Given the description of an element on the screen output the (x, y) to click on. 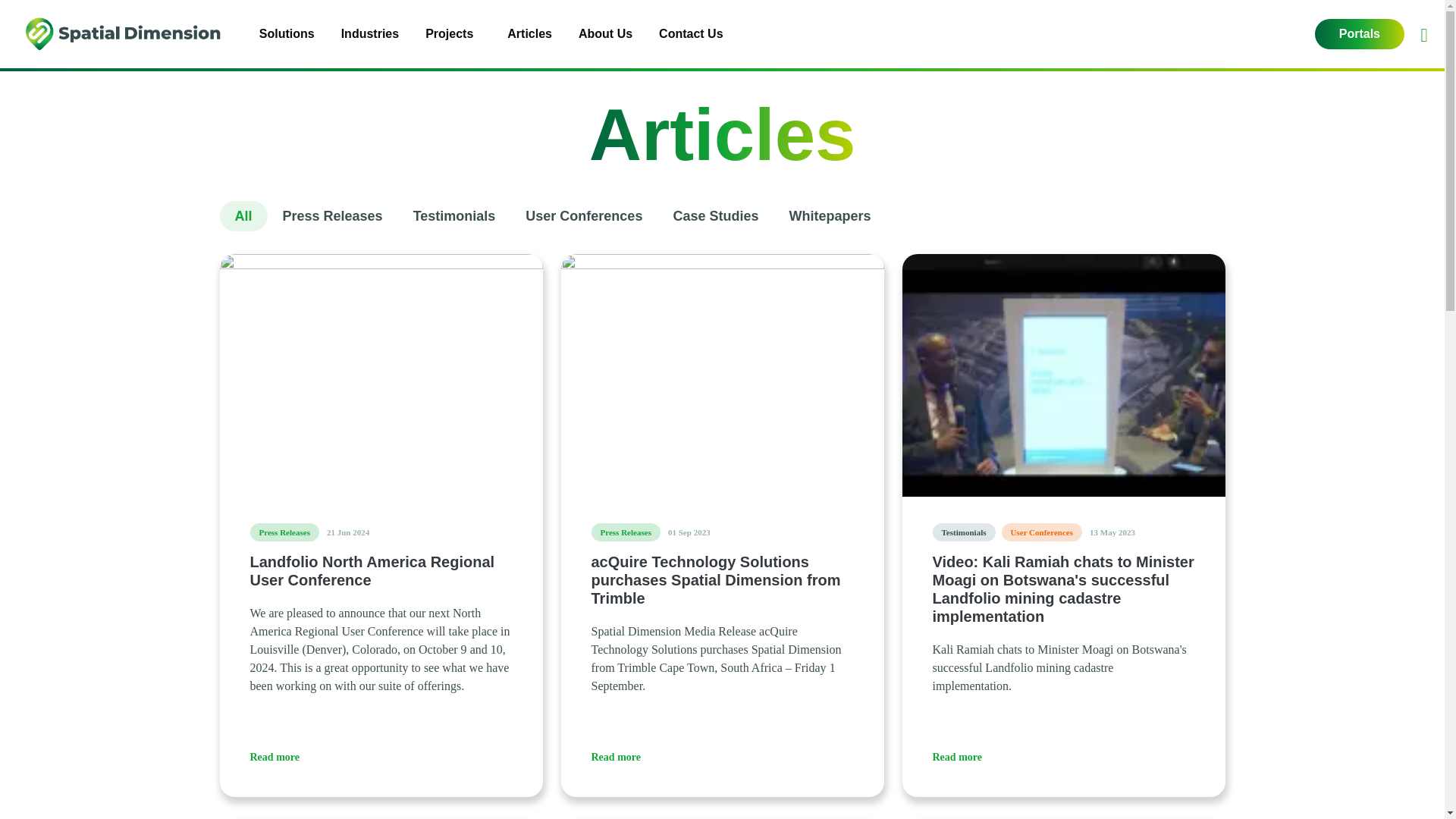
Industries (371, 33)
Press Releases (284, 532)
Articles (531, 33)
Spatial Dimension (124, 33)
Projects (448, 33)
Testimonials (964, 532)
Press Releases (626, 532)
Solutions (288, 33)
User Conferences (1042, 532)
